Given the description of an element on the screen output the (x, y) to click on. 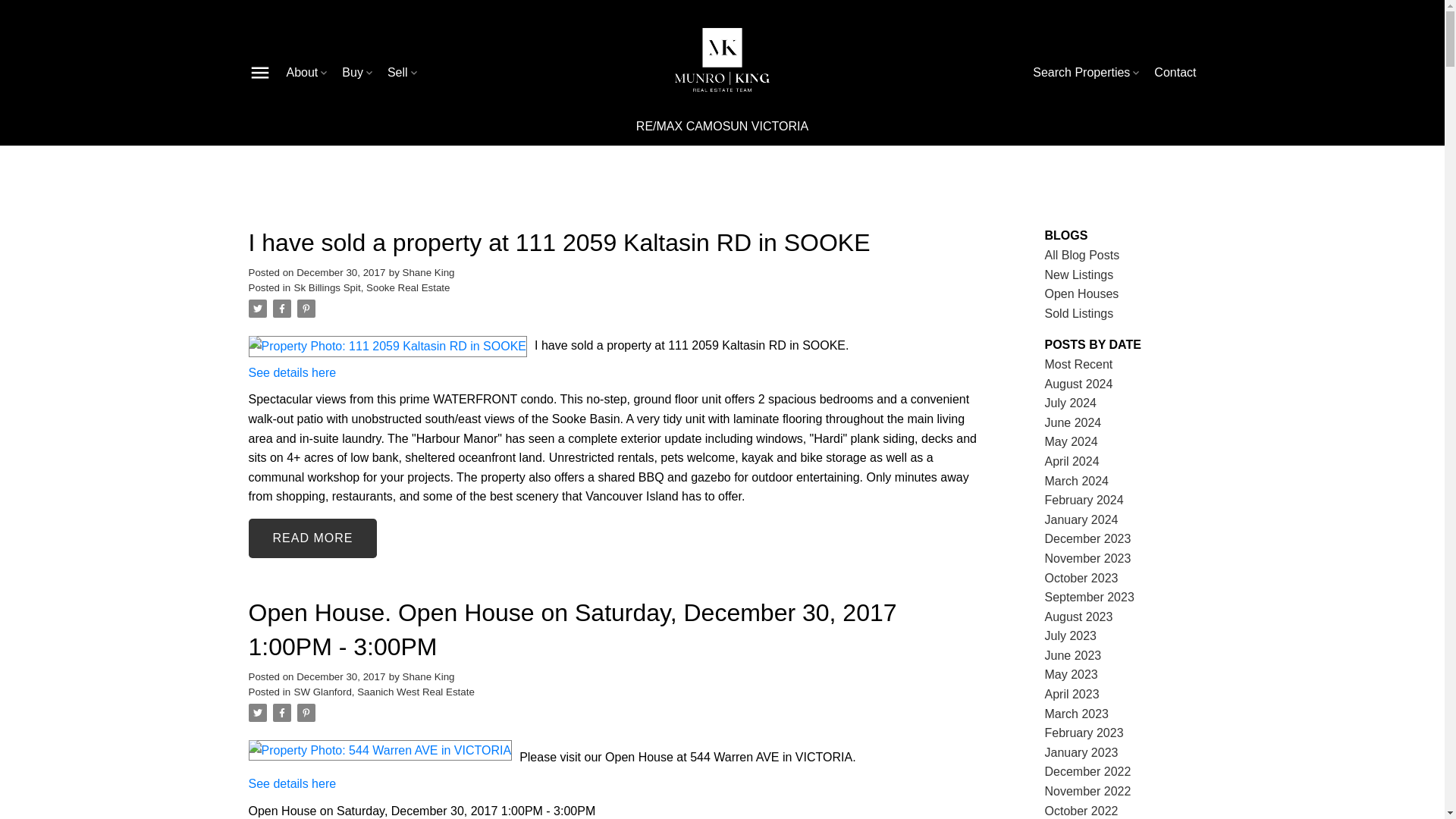
Sell (403, 72)
See details here (292, 372)
Contact (1174, 72)
Search Properties (1086, 72)
Buy (358, 72)
Sk Billings Spit, Sooke Real Estate (371, 287)
About (308, 72)
I have sold a property at 111 2059 Kaltasin RD in SOOKE (616, 243)
